Given the description of an element on the screen output the (x, y) to click on. 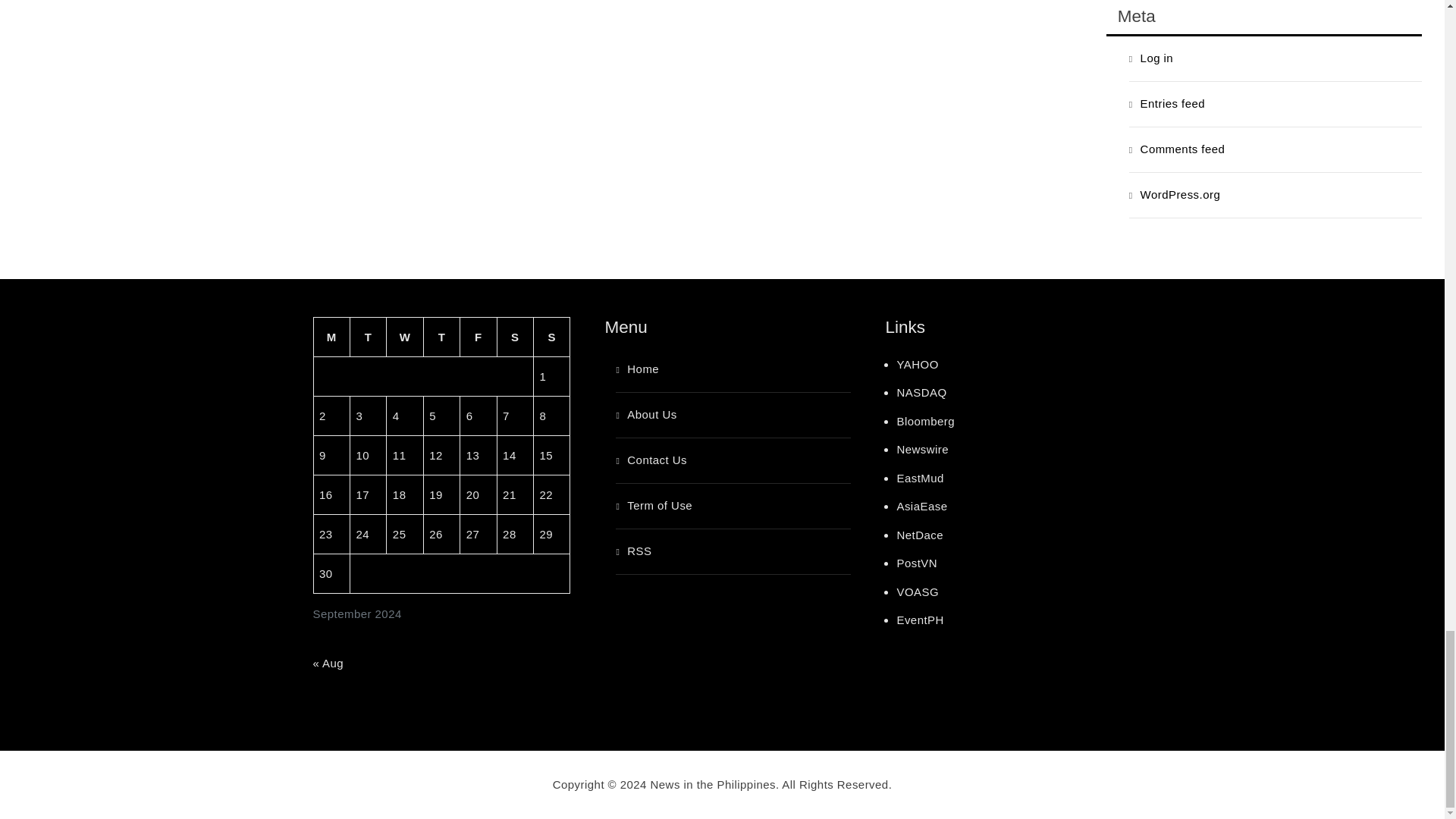
Sunday (552, 337)
Friday (478, 337)
Tuesday (367, 337)
Thursday (441, 337)
Saturday (514, 337)
Monday (331, 337)
Wednesday (405, 337)
